Given the description of an element on the screen output the (x, y) to click on. 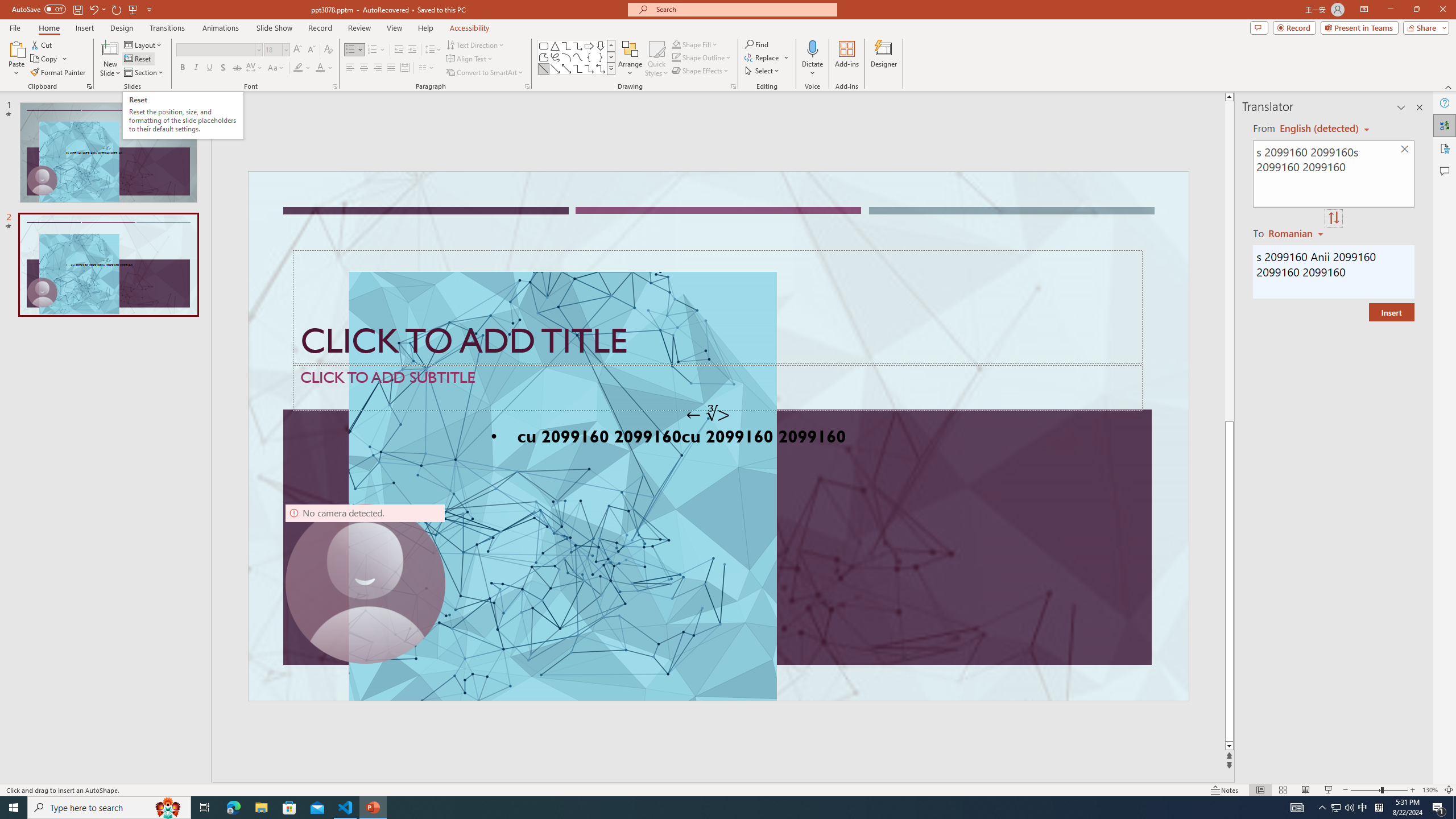
Wang Yian (958, 382)
Reload (609, 508)
Close (Ctrl+F4) (675, 183)
644553698@qq.com (1295, 382)
+86 159 0032 4640 (1182, 382)
